Given the description of an element on the screen output the (x, y) to click on. 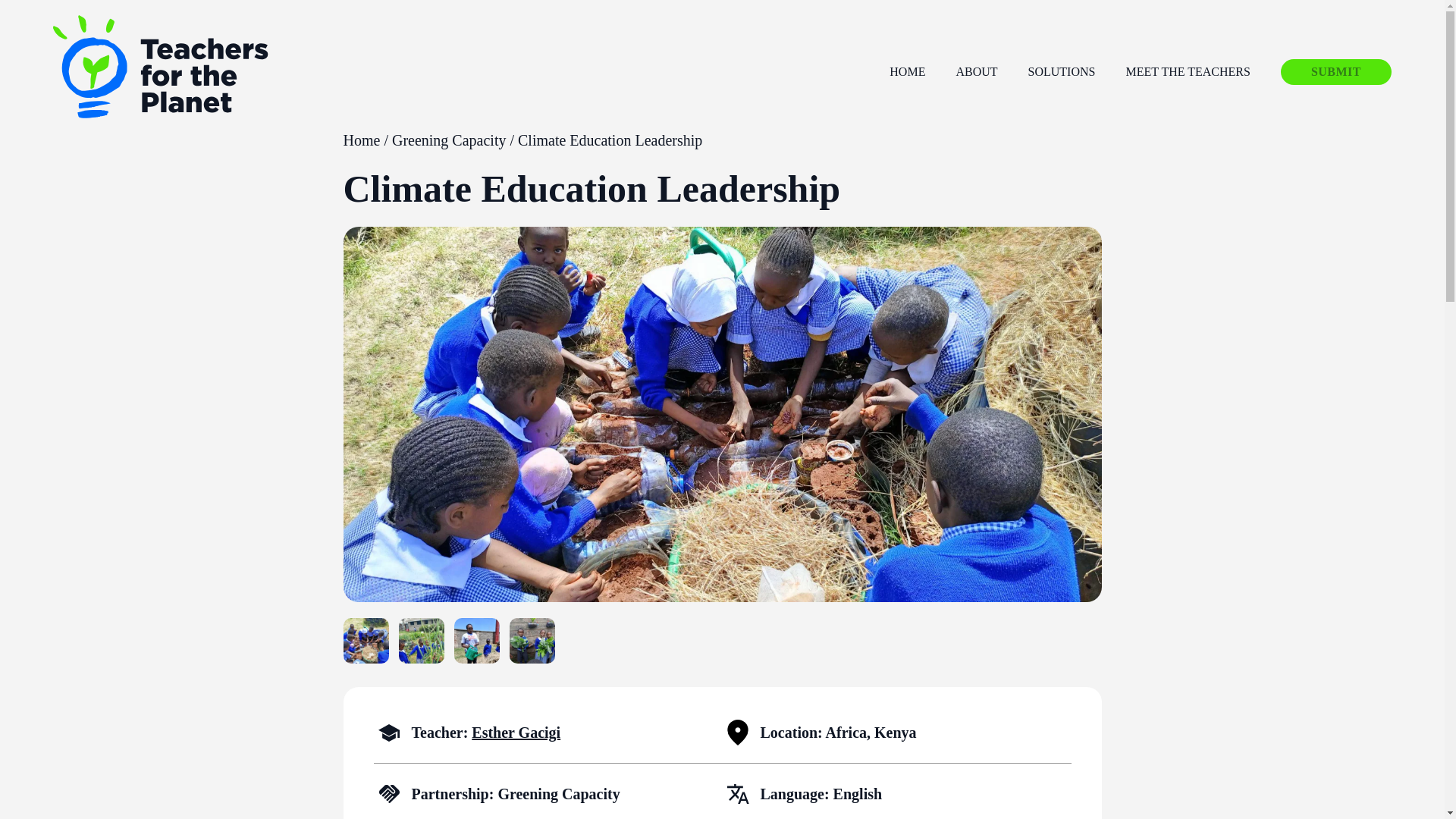
SOLUTIONS (1061, 72)
MEET THE TEACHERS (1187, 72)
HOME (906, 72)
SUBMIT (1336, 71)
Esther Gacigi (515, 732)
Greening Capacity (448, 139)
Home (361, 139)
ABOUT (976, 72)
